Given the description of an element on the screen output the (x, y) to click on. 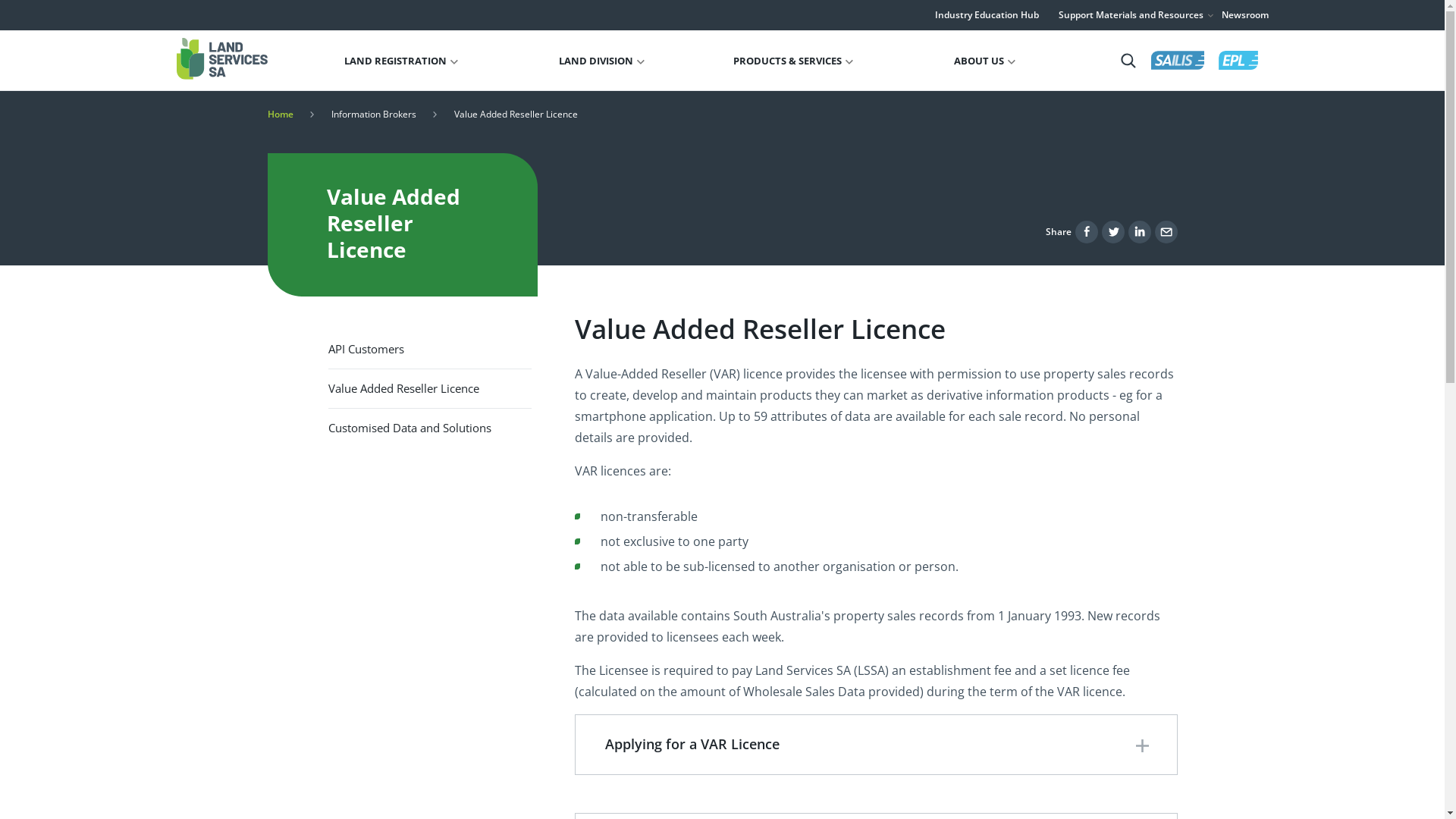
Value Added Reseller Licence Element type: text (428, 388)
ABOUT US Element type: text (984, 60)
Newsroom Element type: text (1243, 14)
Customised Data and Solutions Element type: text (428, 427)
SAILIS Element type: hover (1177, 59)
LinkedIn Element type: hover (1139, 231)
Home Element type: text (279, 113)
LAND REGISTRATION Element type: text (401, 60)
EPL Element type: hover (1237, 59)
Open search Element type: text (1127, 60)
Facebook Element type: hover (1086, 231)
Land Services South Australia Element type: hover (220, 58)
API Customers Element type: text (428, 348)
Support Materials and Resources Element type: text (1136, 15)
Industry Education Hub Element type: text (986, 15)
LAND DIVISION Element type: text (601, 60)
Email Element type: hover (1165, 231)
PRODUCTS & SERVICES Element type: text (793, 60)
Information Brokers Element type: text (372, 113)
Twitter Element type: hover (1112, 231)
